Given the description of an element on the screen output the (x, y) to click on. 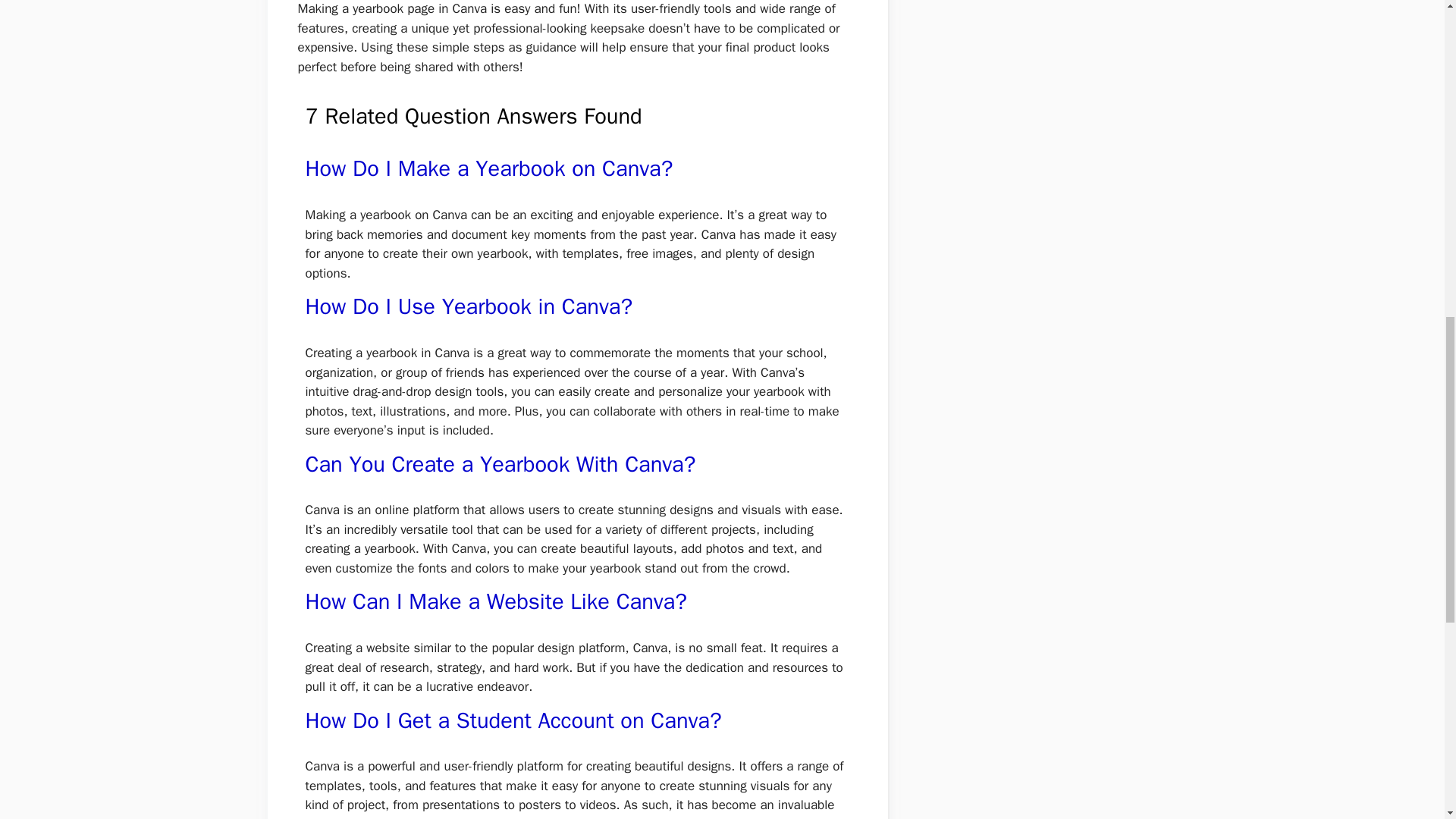
How Can I Make a Website Like Canva? (494, 601)
How Do I Use Yearbook in Canva? (467, 306)
Can You Create a Yearbook With Canva? (499, 464)
How Do I Get a Student Account on Canva? (512, 720)
How Do I Make a Yearbook on Canva? (488, 168)
